Given the description of an element on the screen output the (x, y) to click on. 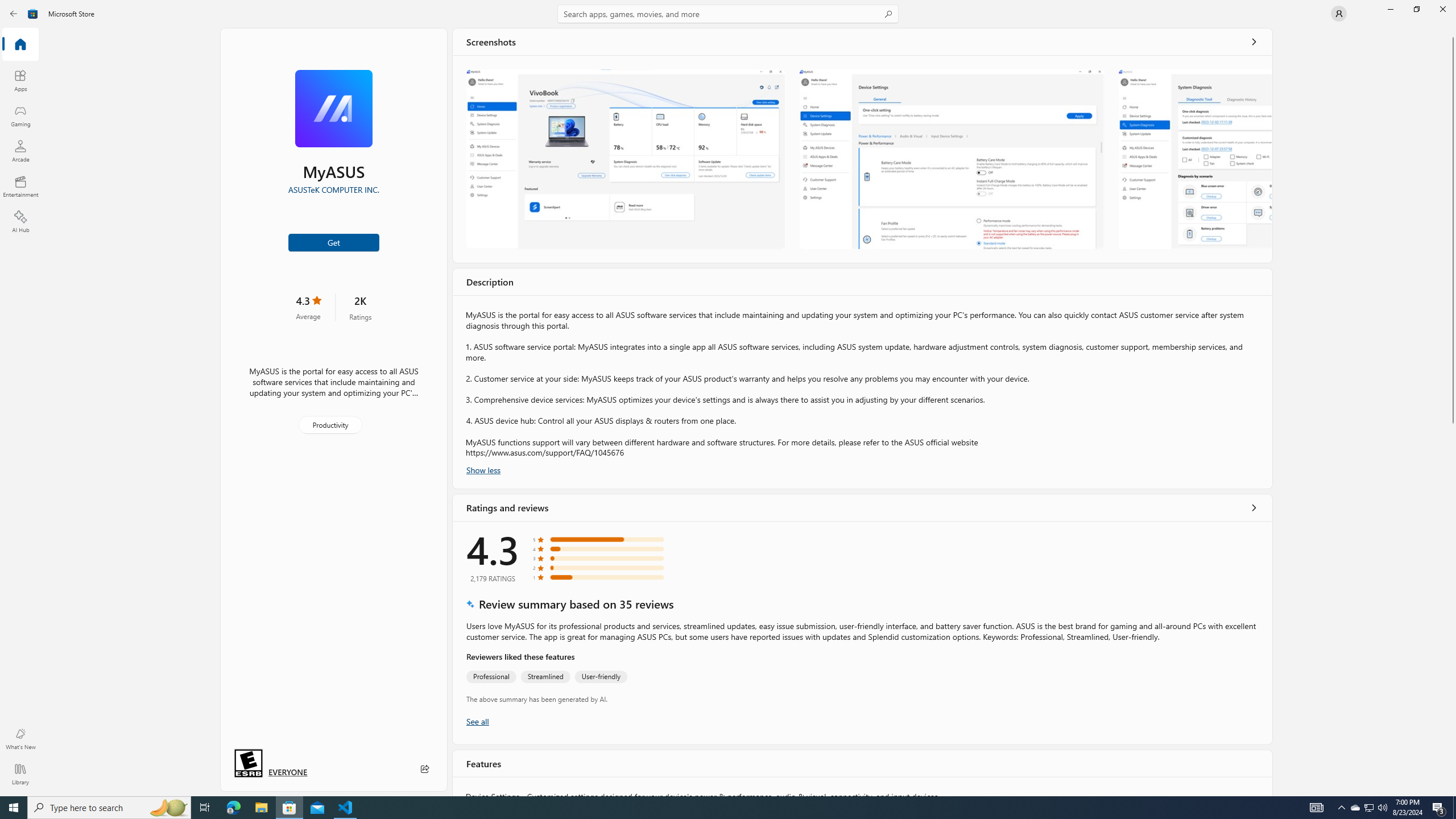
Show all ratings and reviews (1253, 506)
AutomationID: NavigationControl (728, 398)
Show less (482, 469)
Screenshot 2 (952, 158)
Screenshot 1 (624, 158)
Back (13, 13)
Productivity (329, 425)
Vertical Large Increase (1452, 606)
Show all ratings and reviews (477, 721)
